Given the description of an element on the screen output the (x, y) to click on. 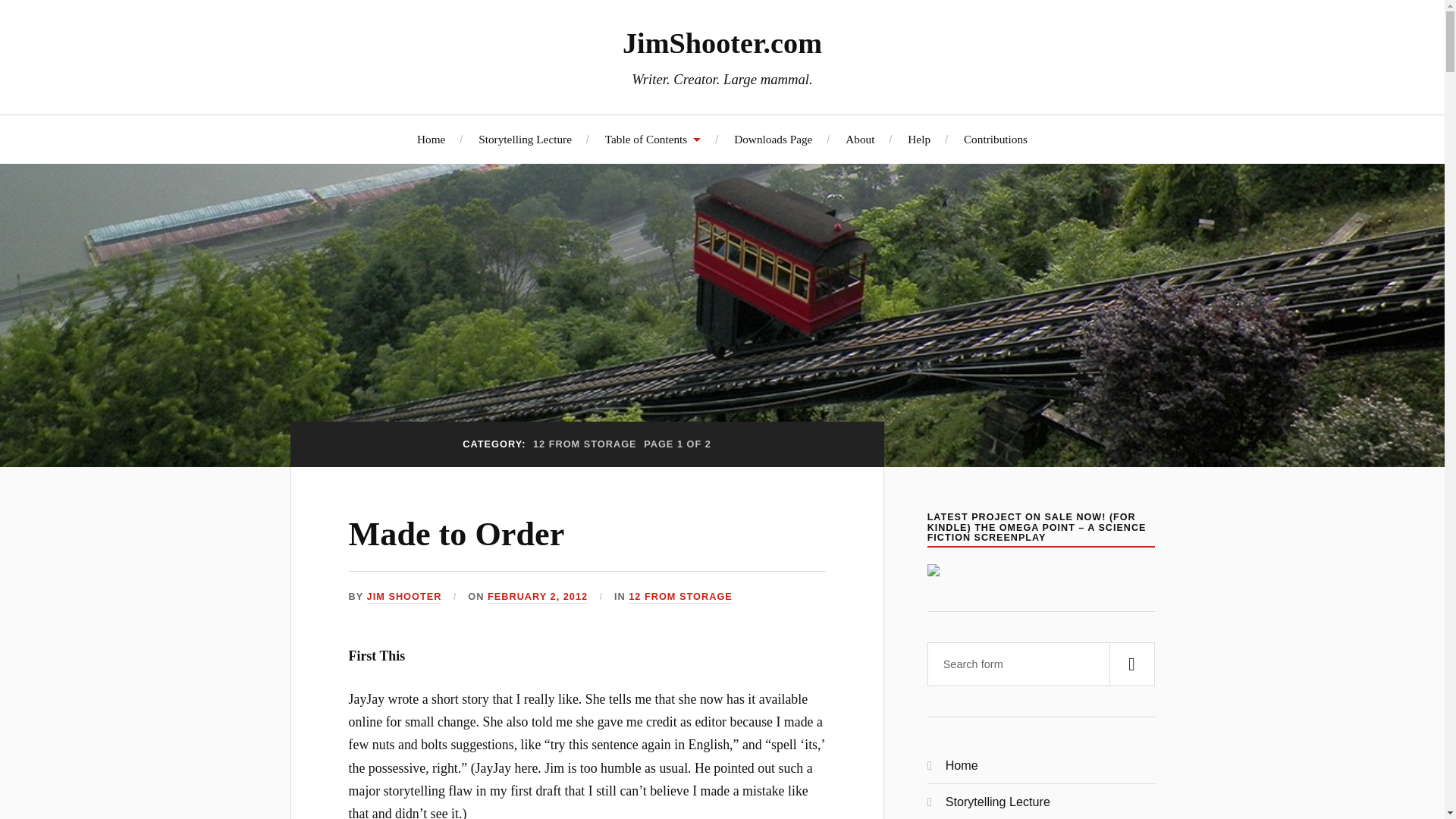
Storytelling Lecture (525, 138)
JimShooter.com (722, 42)
Posts by Jim Shooter (404, 596)
Table of Contents (653, 138)
